Given the description of an element on the screen output the (x, y) to click on. 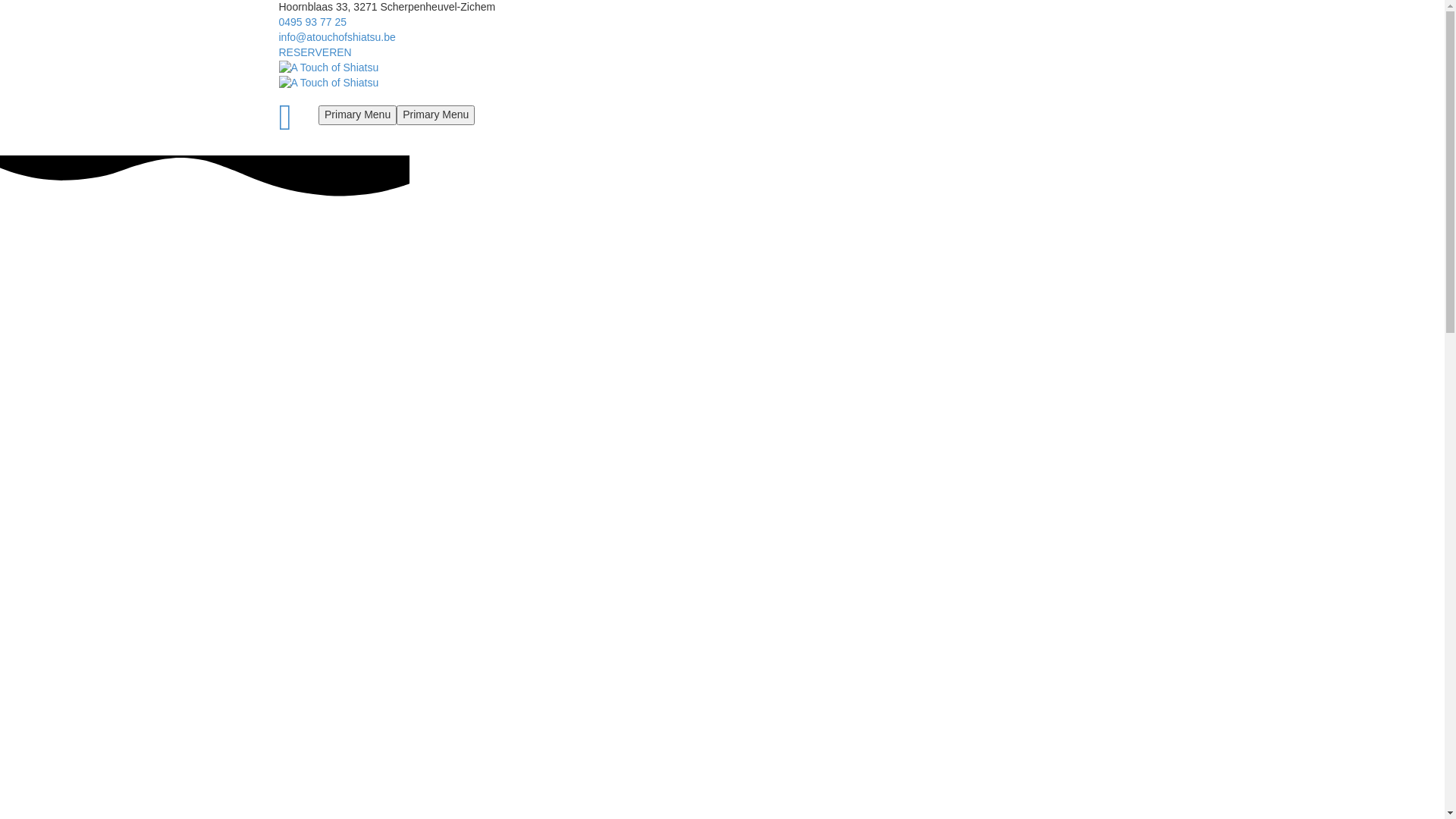
info@atouchofshiatsu.be Element type: text (337, 37)
RESERVEREN Element type: text (315, 52)
Primary Menu Element type: text (357, 115)
0495 93 77 25 Element type: text (313, 21)
Primary Menu Element type: text (435, 115)
